Given the description of an element on the screen output the (x, y) to click on. 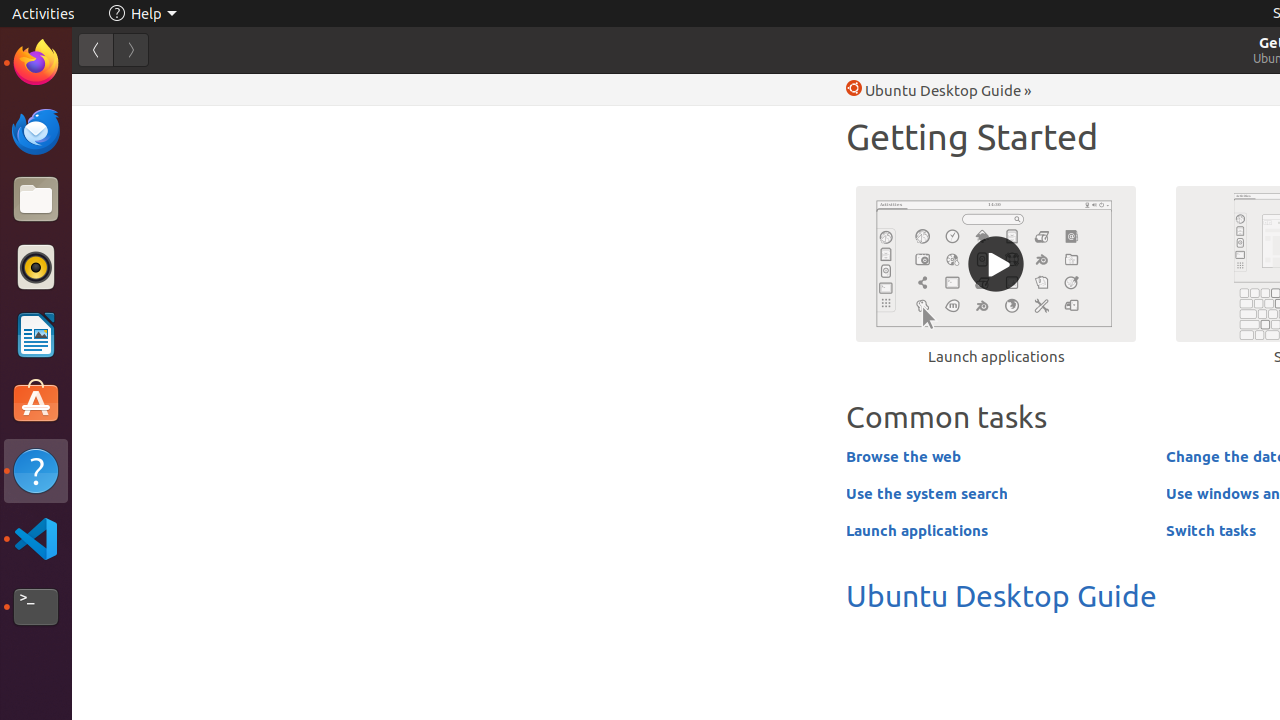
Activities Element type: label (43, 13)
luyi1 Element type: label (133, 89)
IsaHelpMain.desktop Element type: label (133, 300)
li.txt Element type: label (259, 89)
